Given the description of an element on the screen output the (x, y) to click on. 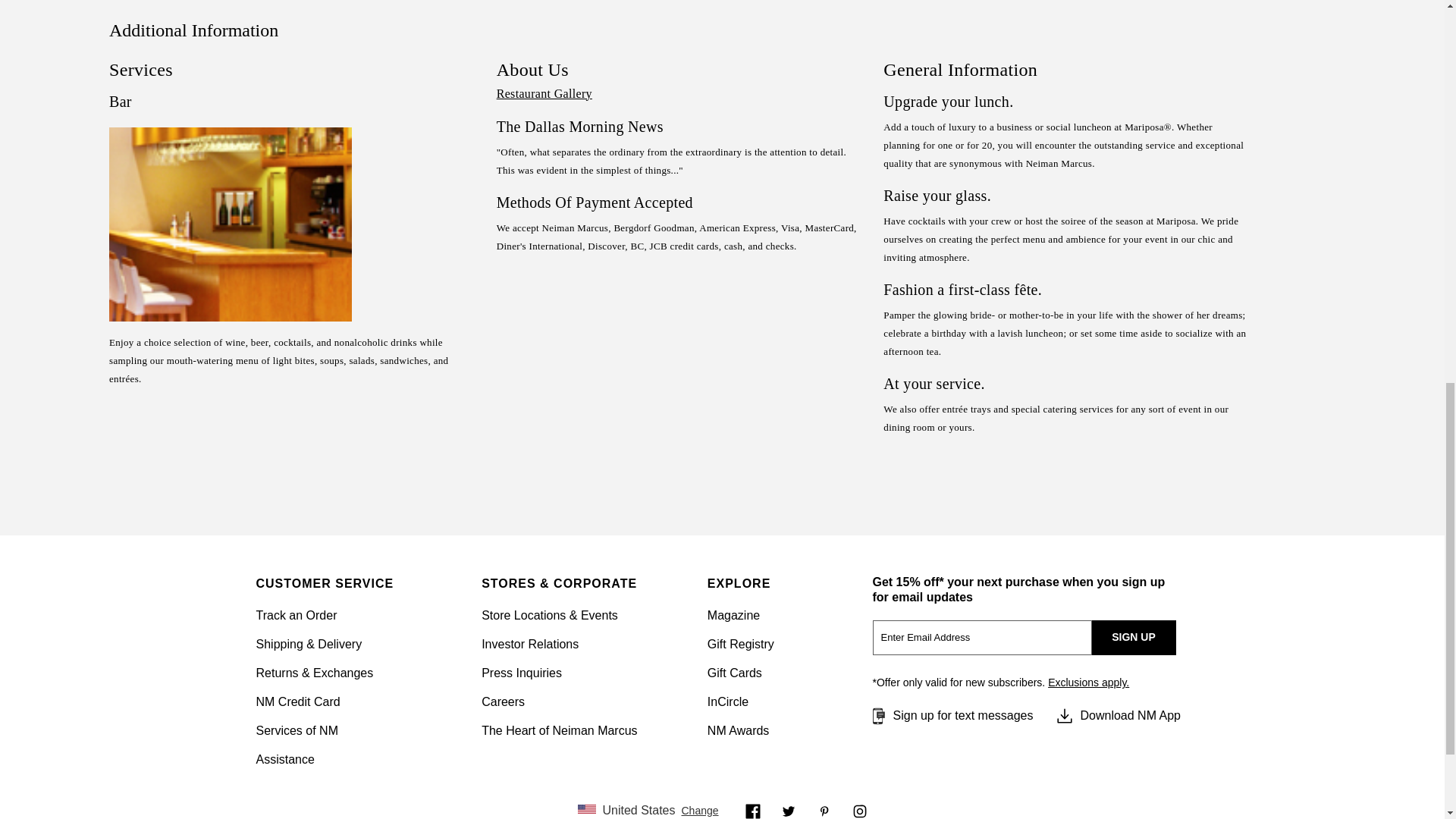
Download NM App (1117, 715)
Sign up for text messages (951, 715)
Neiman Marcus on Twitter (788, 810)
Neiman Marcus on Facebook (752, 810)
Neiman Marcus on Instagram (859, 810)
Neiman Marcus on Pinterest (823, 810)
